Given the description of an element on the screen output the (x, y) to click on. 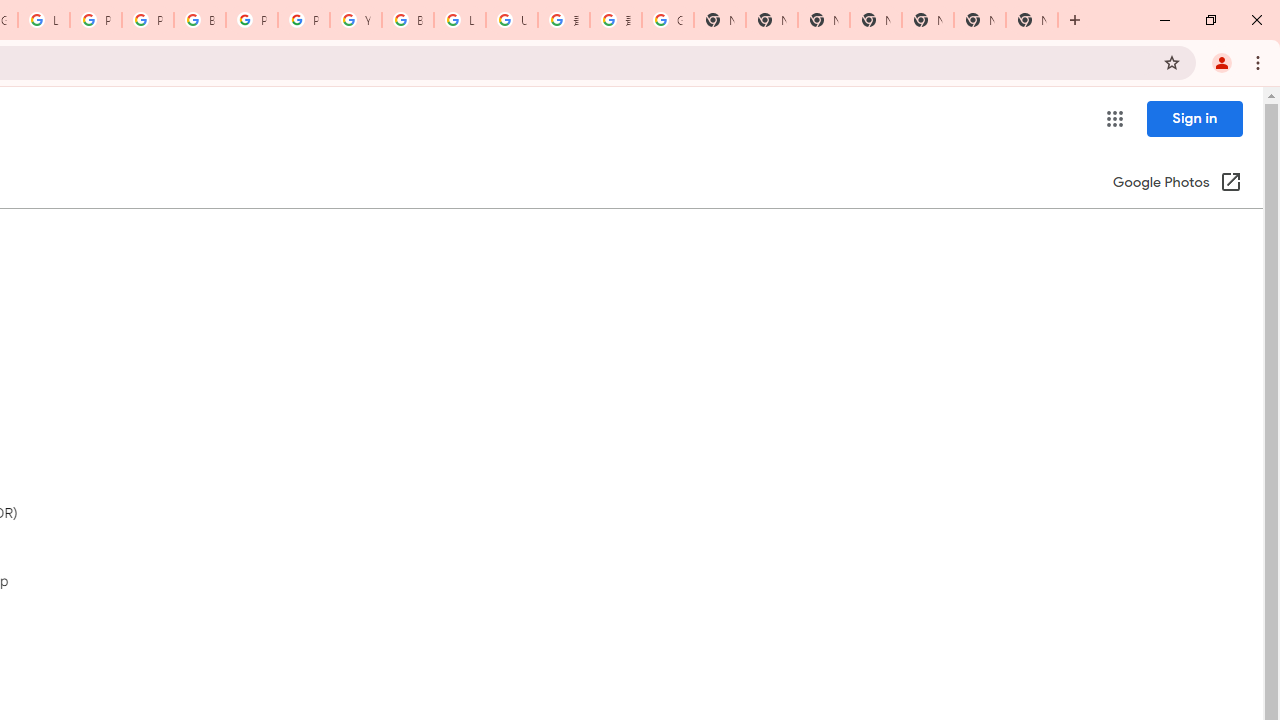
New Tab (875, 20)
YouTube (355, 20)
Privacy Help Center - Policies Help (95, 20)
